Given the description of an element on the screen output the (x, y) to click on. 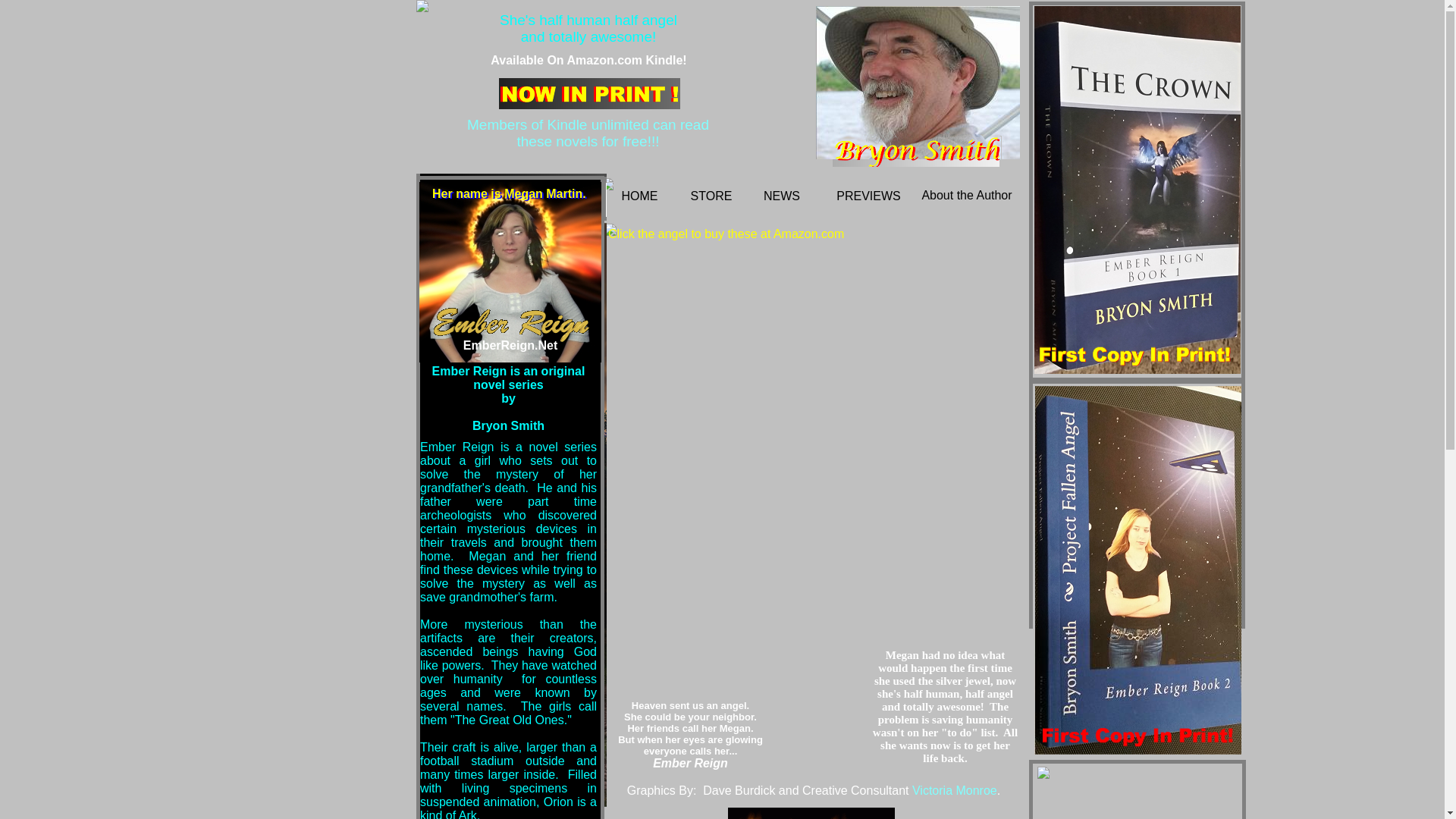
Victoria Monroe (954, 789)
EmberReign.Net (509, 345)
Available On Amazon.com Kindle! (587, 60)
PREVIEWS (867, 195)
NEWS (780, 195)
STORE (711, 195)
HOME (639, 195)
Check out Amazon.com Kindle for Ember Reign - The Crown! (587, 60)
About the Author (966, 195)
